Given the description of an element on the screen output the (x, y) to click on. 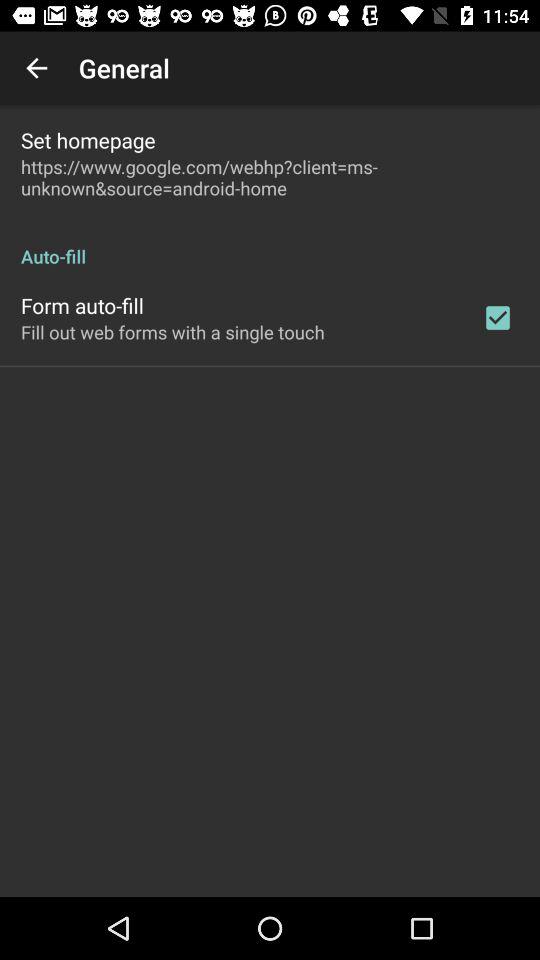
jump to set homepage app (88, 139)
